Given the description of an element on the screen output the (x, y) to click on. 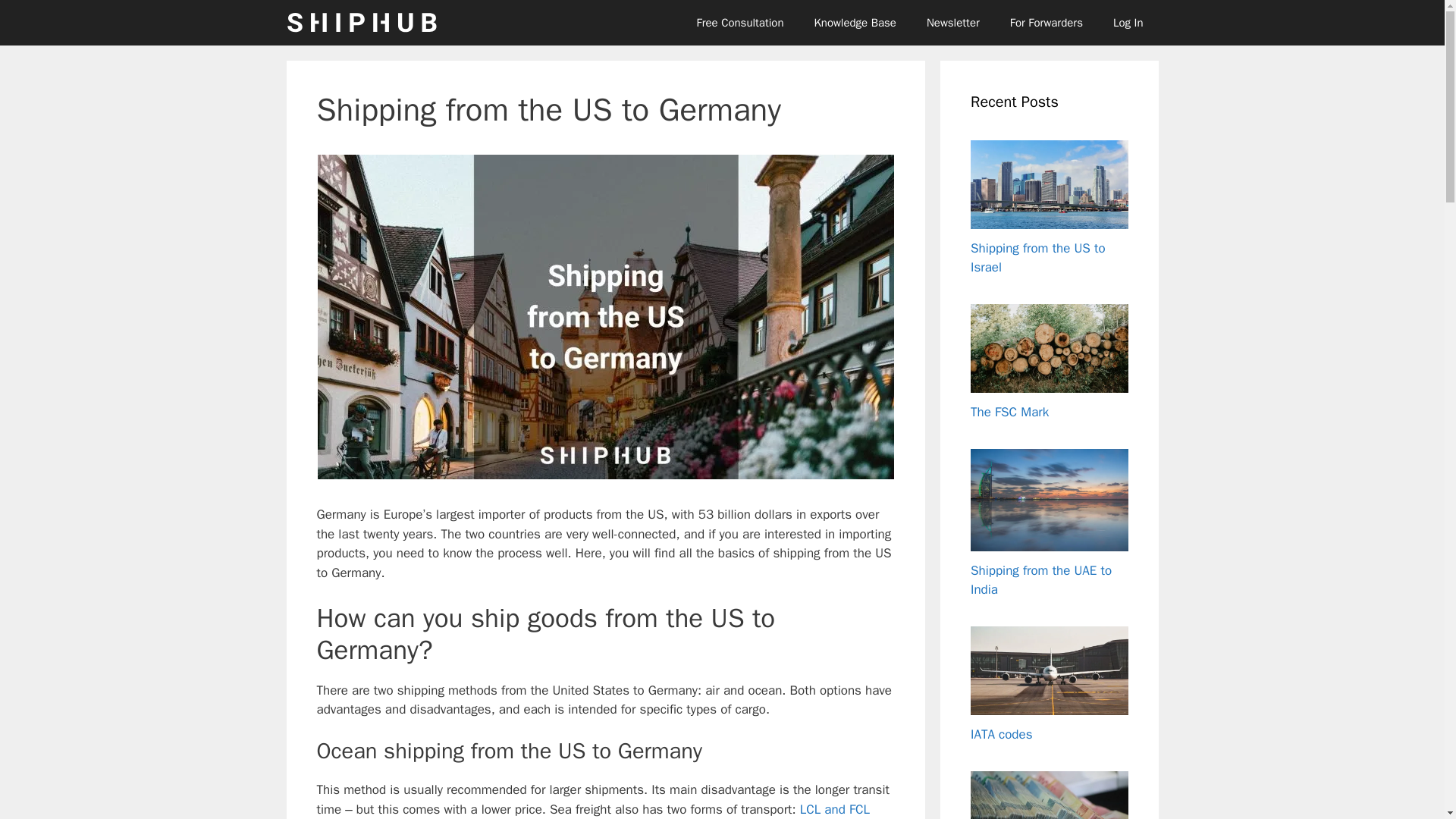
Knowledge Base (855, 22)
LCL and FCL shipping (593, 810)
Shipping from the UAE to India (1041, 580)
IATA codes (1001, 734)
Free Consultation (739, 22)
Search (35, 18)
The FSC Mark (1009, 412)
Log In (1127, 22)
ShipHub (365, 22)
For Forwarders (1045, 22)
Shipping from the US to Israel (1038, 258)
Newsletter (952, 22)
ShipHub (362, 22)
